Given the description of an element on the screen output the (x, y) to click on. 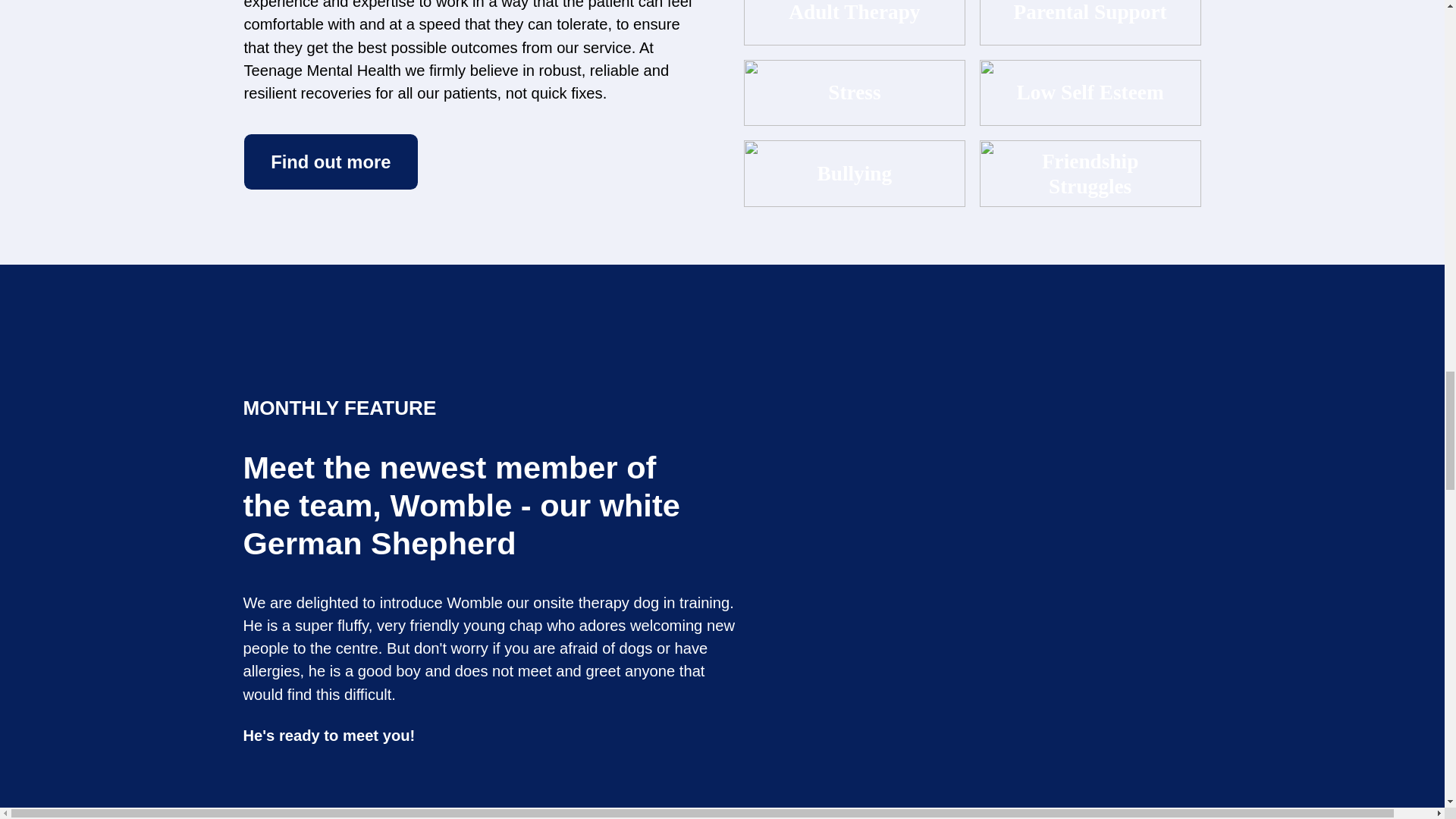
Find out more (331, 162)
